Given the description of an element on the screen output the (x, y) to click on. 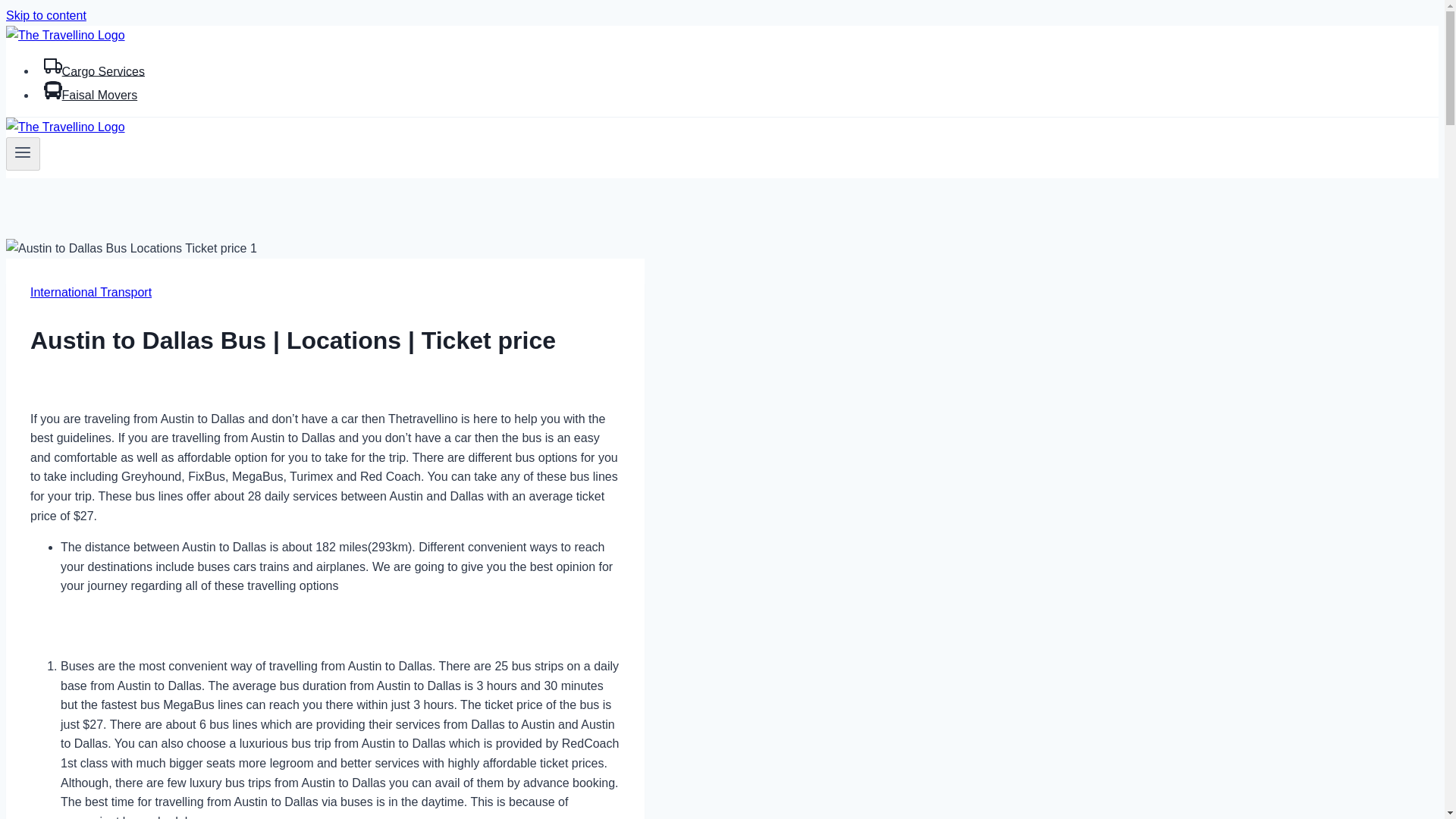
Faisal Movers (90, 94)
Cargo Services (94, 71)
Skip to content (45, 15)
Toggle Menu (22, 153)
International Transport (90, 291)
Skip to content (45, 15)
Toggle Menu (22, 152)
